Given the description of an element on the screen output the (x, y) to click on. 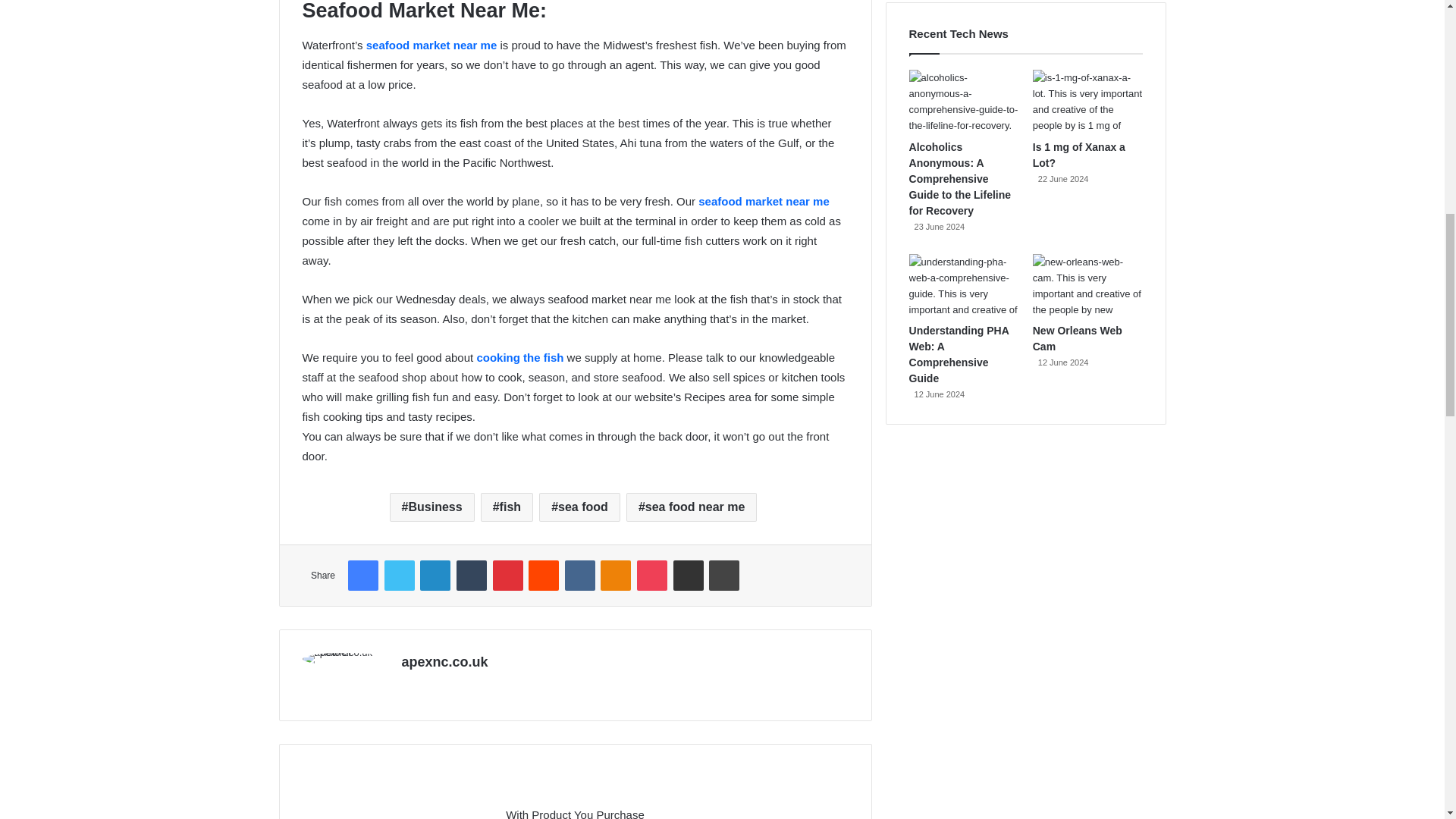
sea food (579, 507)
seafood market near me (431, 44)
sea food near me (691, 507)
seafood market near me (763, 201)
fish (506, 507)
Business (432, 507)
cooking the fish (521, 357)
